Given the description of an element on the screen output the (x, y) to click on. 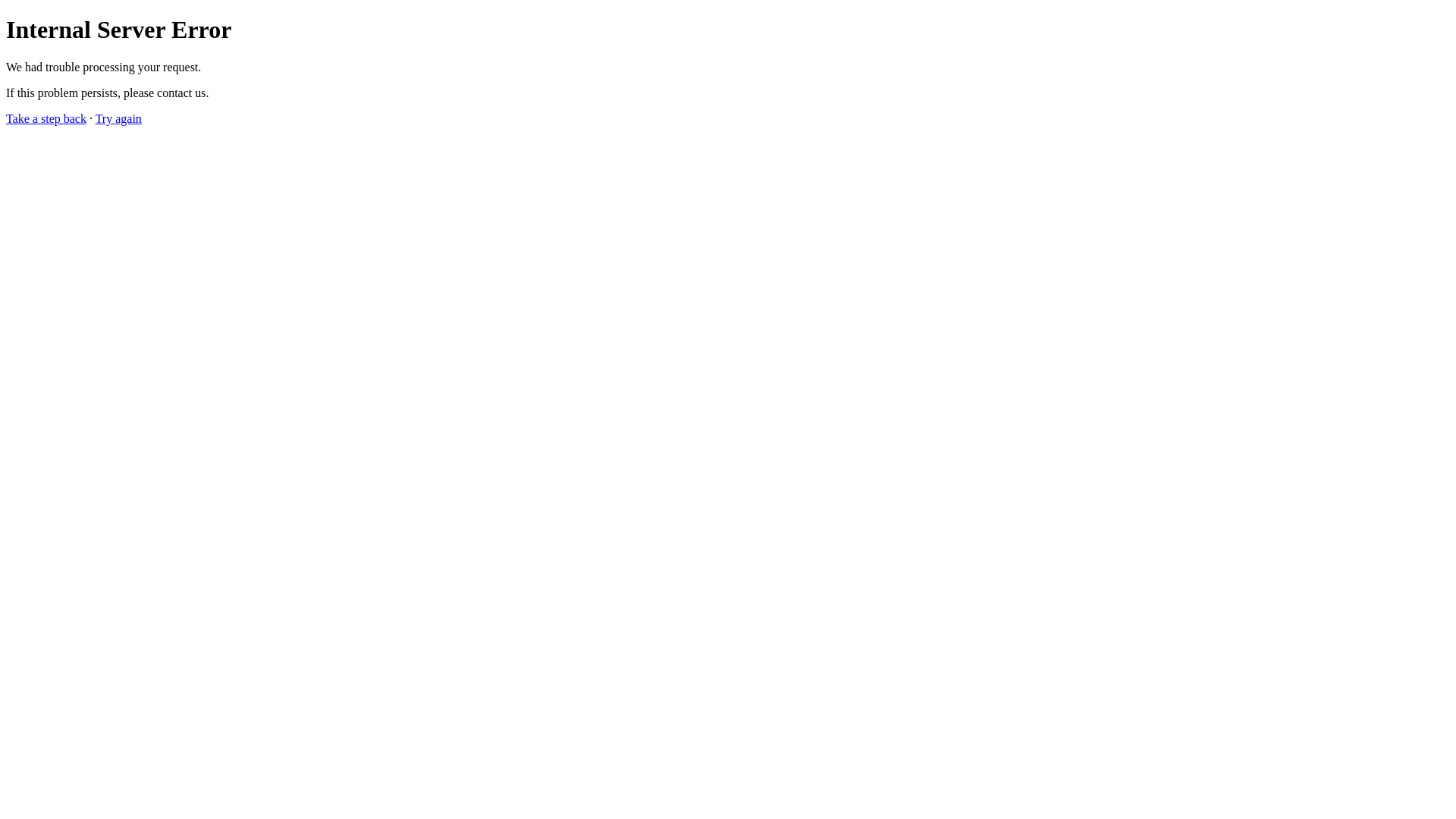
Take a step back Element type: text (46, 118)
Try again Element type: text (118, 118)
